Given the description of an element on the screen output the (x, y) to click on. 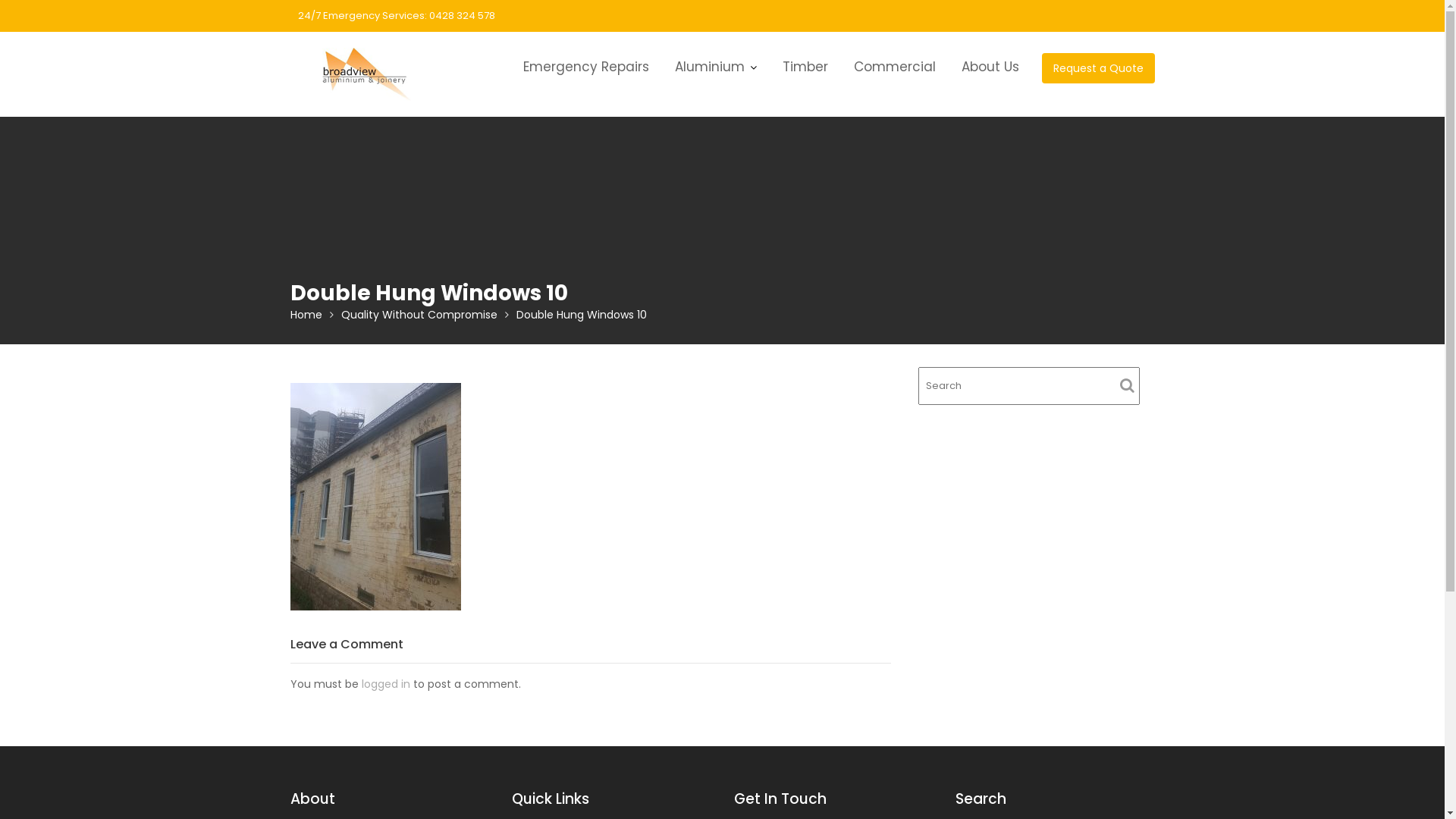
About Us Element type: text (989, 66)
Emergency Repairs Element type: text (585, 66)
Home Element type: text (305, 314)
Quality Without Compromise Element type: text (419, 314)
24/7 Emergency Services: 0428 324 578 Element type: text (395, 15)
Aluminium Element type: text (714, 66)
logged in Element type: text (384, 683)
Commercial Element type: text (893, 66)
Request a Quote Element type: text (1097, 68)
Timber Element type: text (804, 66)
